Given the description of an element on the screen output the (x, y) to click on. 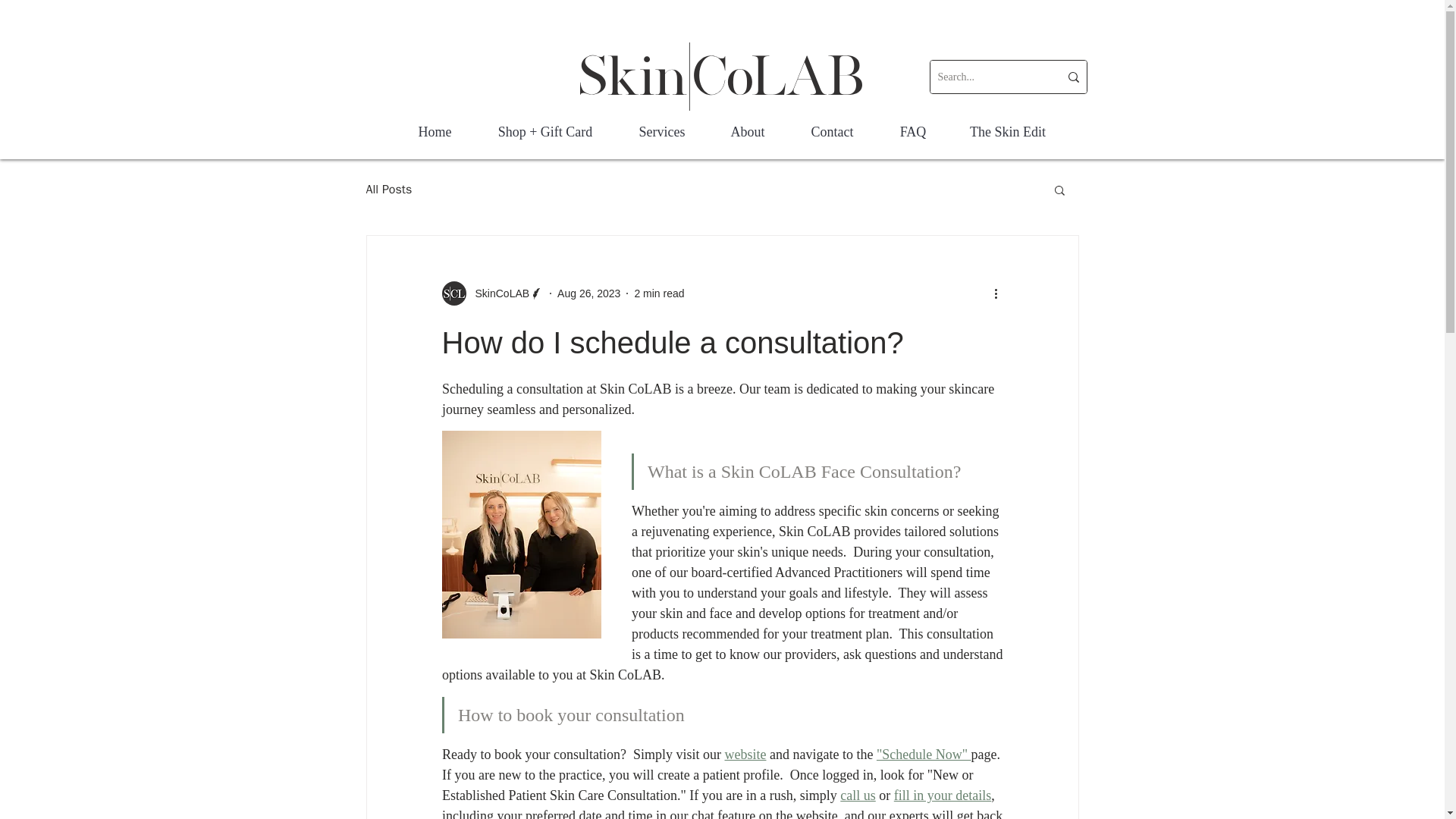
Services (662, 132)
fill in your details (941, 795)
Home (434, 132)
"Schedule Now"  (923, 754)
website (744, 754)
call us (858, 795)
SkinCoLAB (492, 293)
The Skin Edit (1007, 132)
Aug 26, 2023 (588, 292)
FAQ (913, 132)
